Given the description of an element on the screen output the (x, y) to click on. 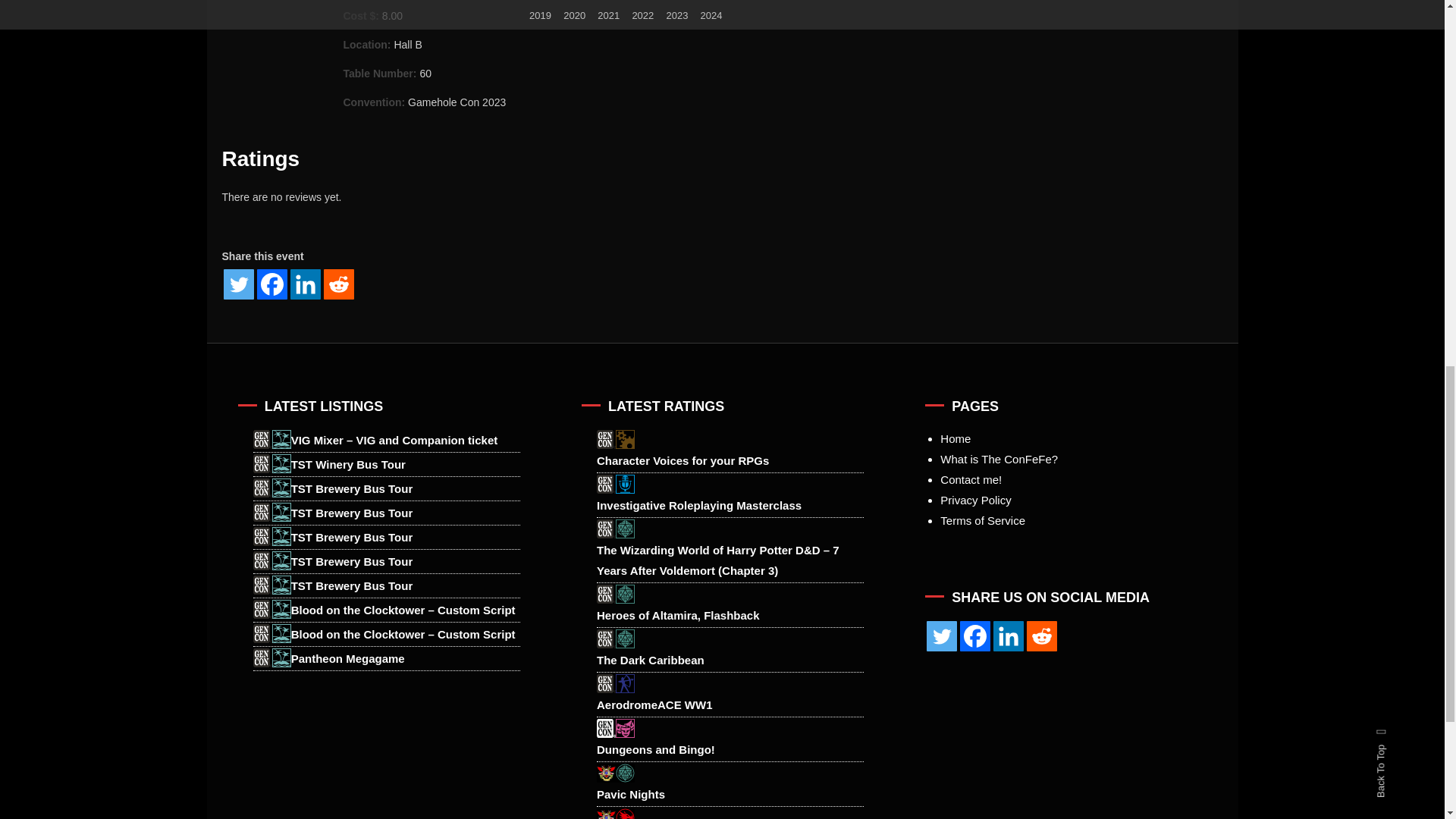
Linkedin (1007, 635)
Twitter (941, 635)
Reddit (338, 284)
TST Brewery Bus Tour (386, 561)
Linkedin (304, 284)
Reddit (1041, 635)
TST Brewery Bus Tour (386, 537)
Facebook (271, 284)
TST Brewery Bus Tour (386, 512)
Twitter (237, 284)
